Given the description of an element on the screen output the (x, y) to click on. 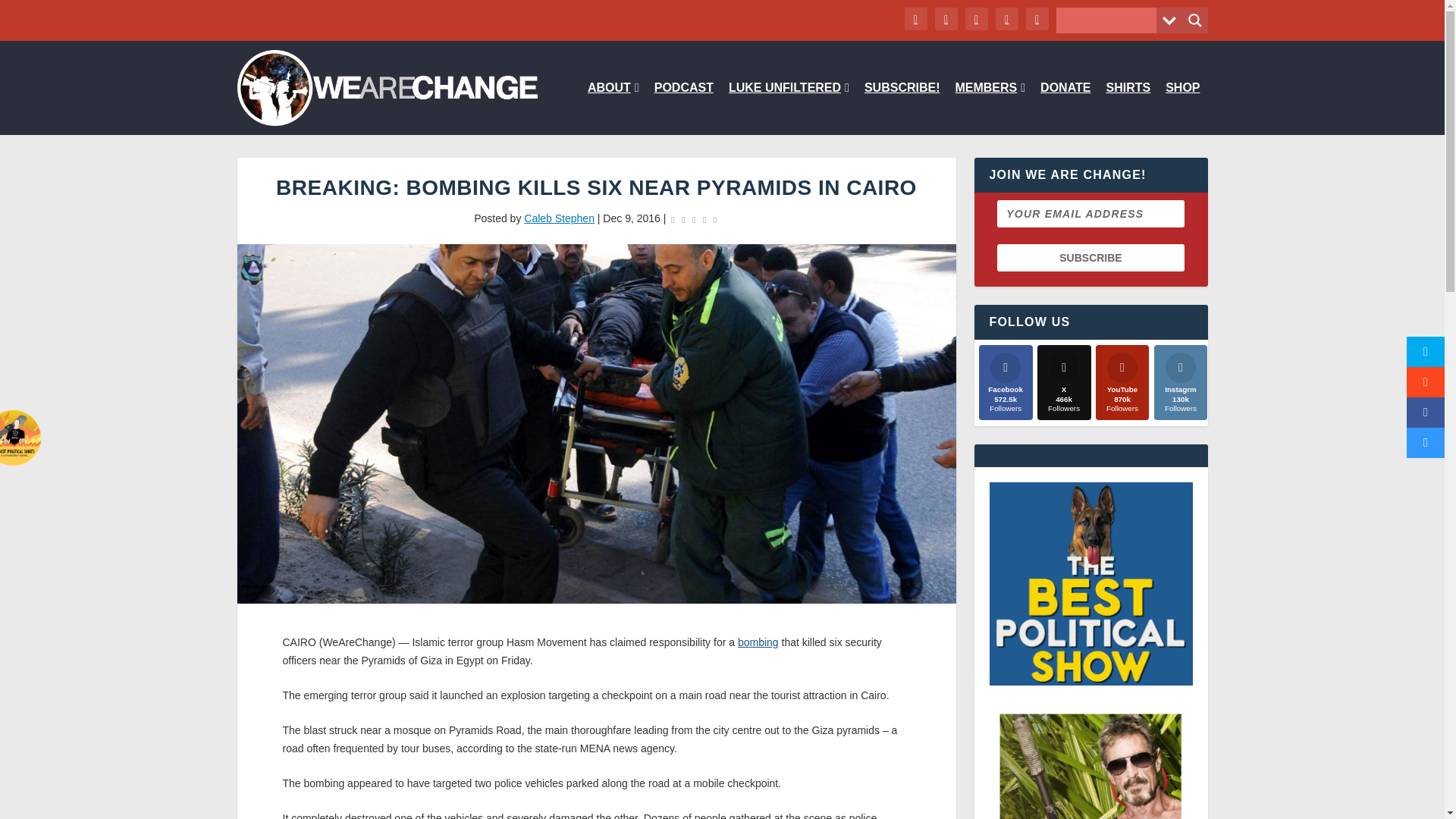
DONATE (1065, 108)
About (613, 108)
ABOUT (613, 108)
LUKE UNFILTERED (788, 108)
Subscribe (1090, 257)
Rating: 0.00 (693, 219)
PODCAST (683, 108)
MEMBERS (990, 108)
Posts by Caleb Stephen (559, 218)
SUBSCRIBE! (902, 108)
